Given the description of an element on the screen output the (x, y) to click on. 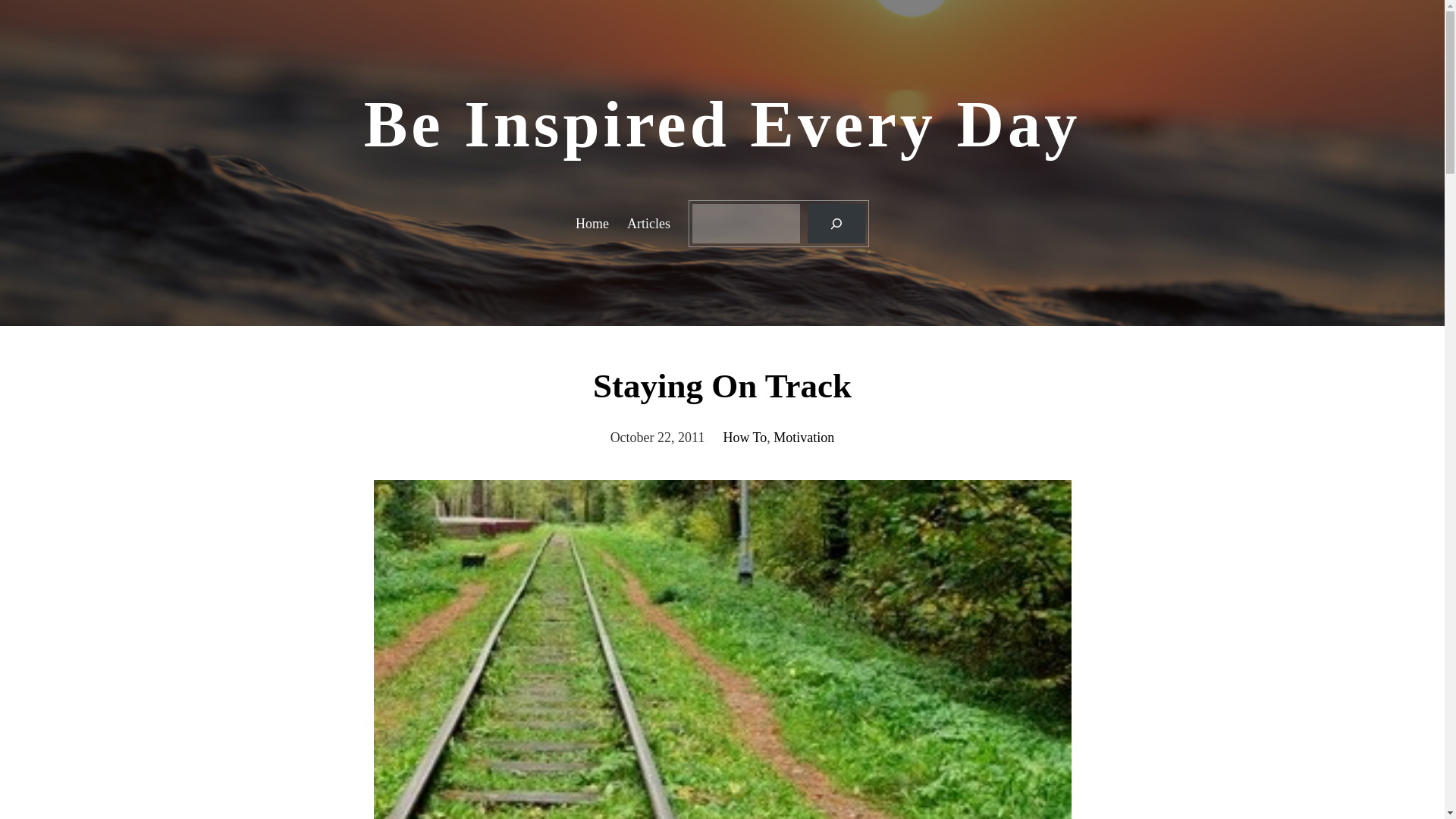
Articles (648, 223)
Motivation (803, 437)
How To (744, 437)
Home (591, 223)
Be Inspired Every Day (722, 123)
